Given the description of an element on the screen output the (x, y) to click on. 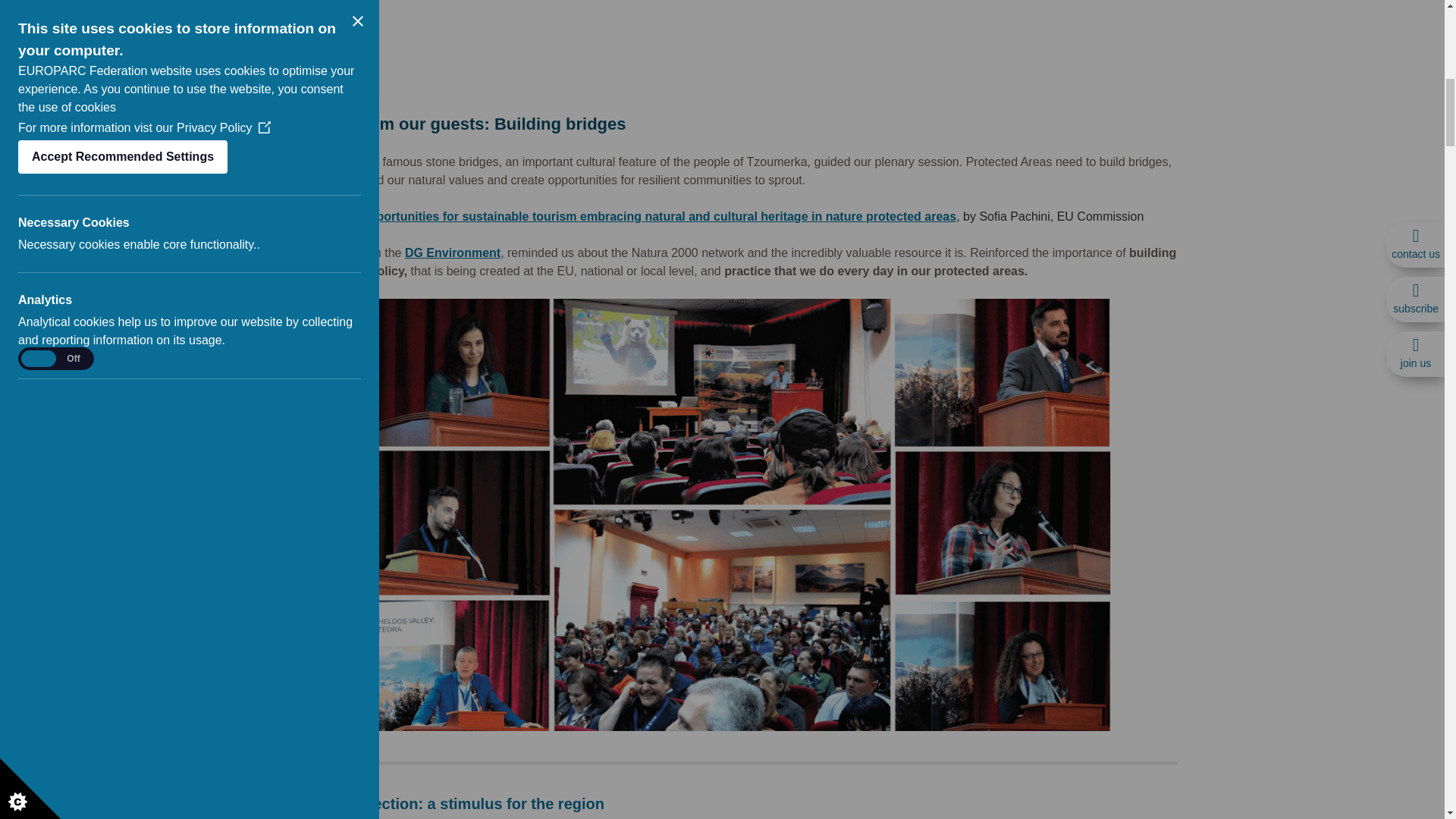
Charter Network Meeting 2019 (721, 47)
